Given the description of an element on the screen output the (x, y) to click on. 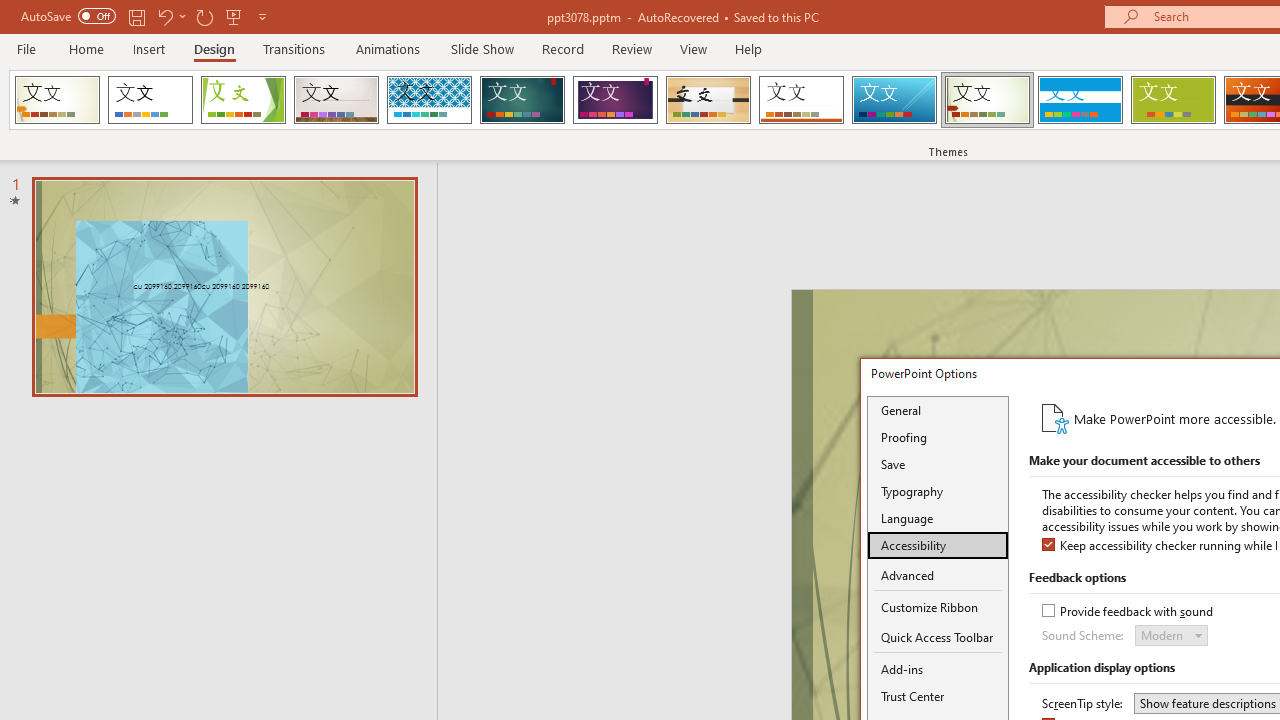
Basis Loading Preview... (1172, 100)
Ion Loading Preview... (522, 100)
Integral Loading Preview... (429, 100)
Provide feedback with sound (1129, 612)
Sound Scheme (1171, 634)
